Given the description of an element on the screen output the (x, y) to click on. 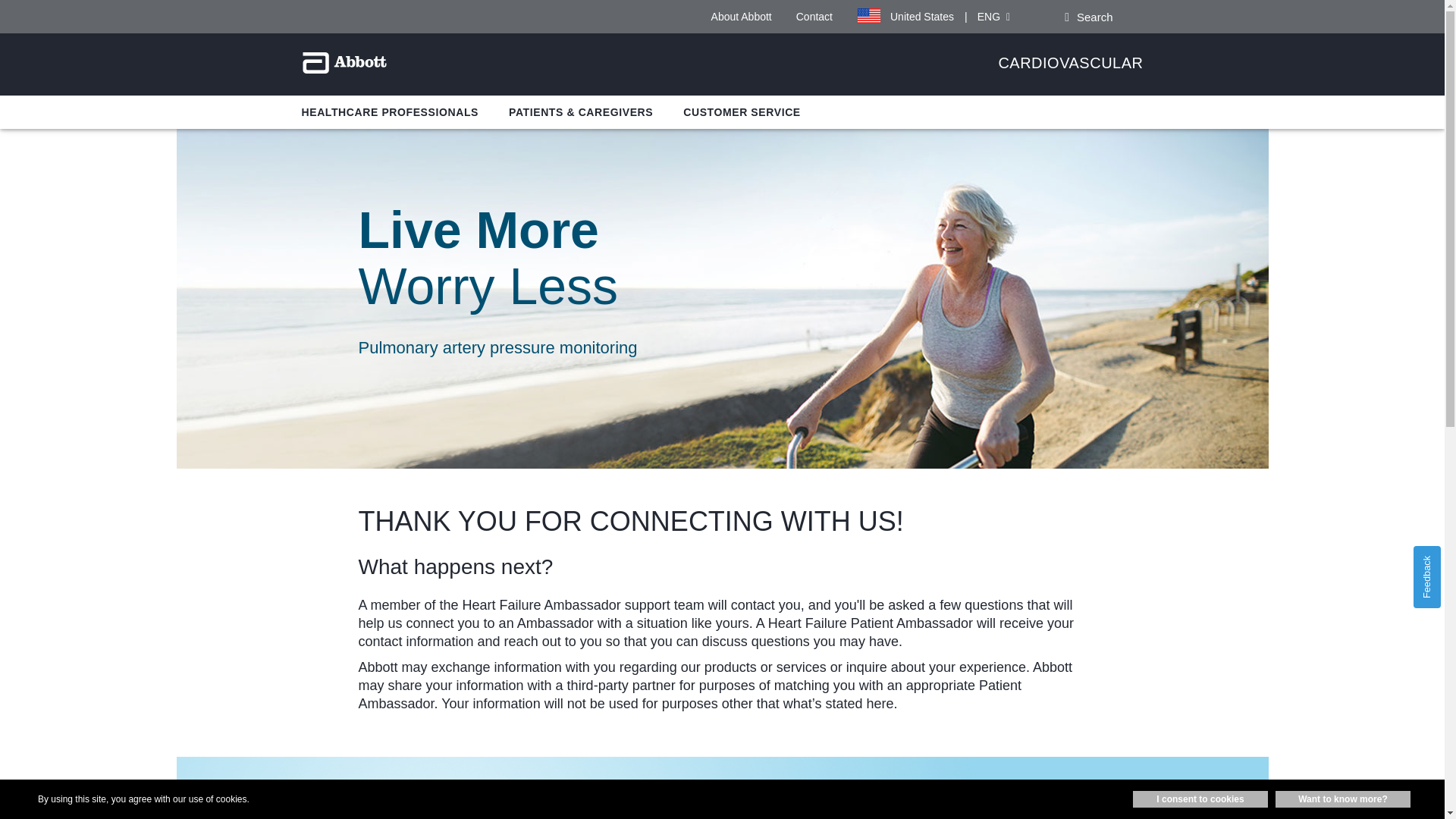
HEALTHCARE PROFESSIONALS (390, 111)
About Abbott (741, 16)
Contact (814, 16)
